Given the description of an element on the screen output the (x, y) to click on. 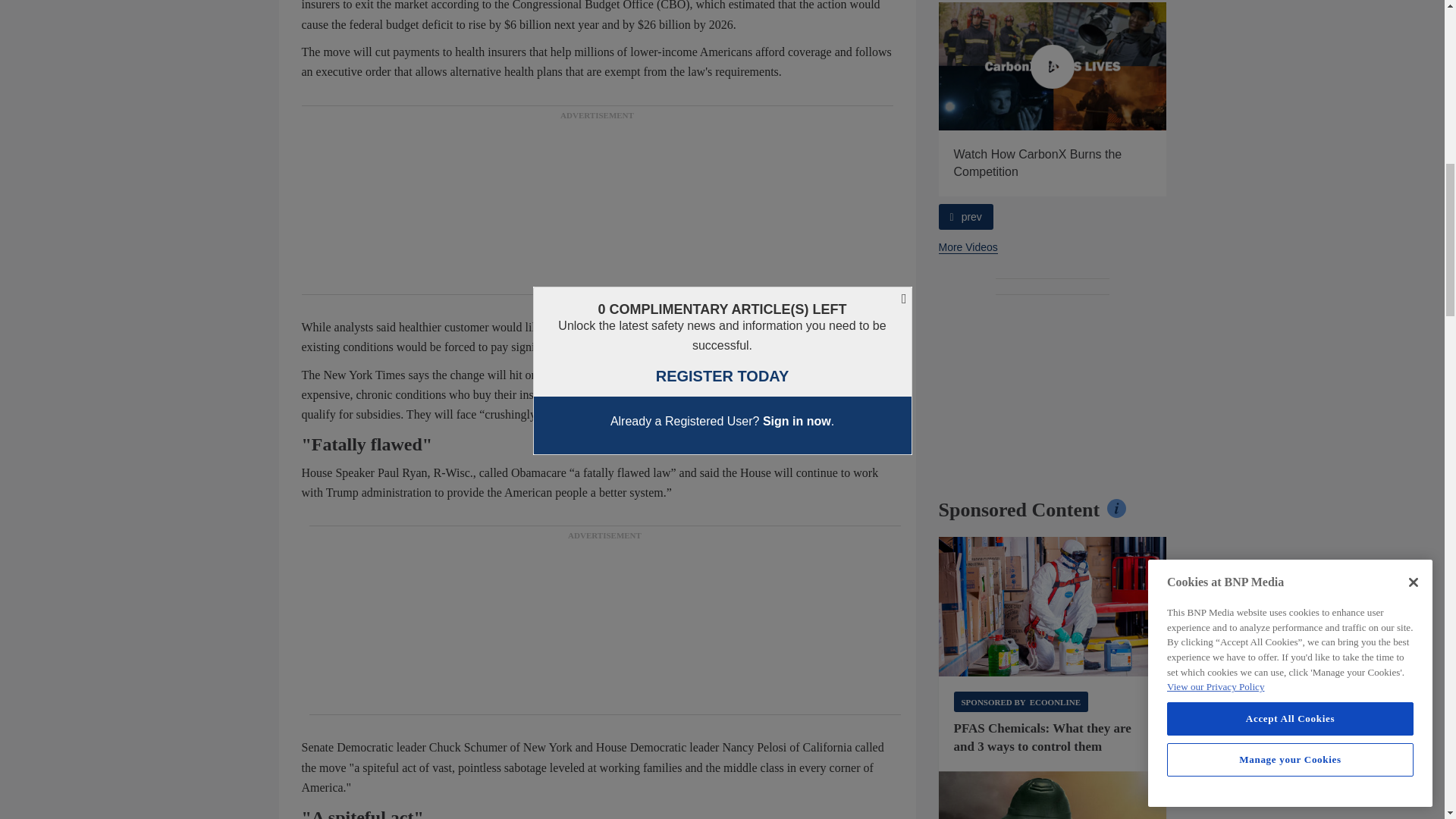
chemical safety (1052, 606)
Sponsored by EcoOnline (1021, 701)
Meet Your New Complete Cleaning Station (825, 66)
Watch How CarbonX Burns the Competition (1052, 66)
man working in summer heat (1052, 795)
